Given the description of an element on the screen output the (x, y) to click on. 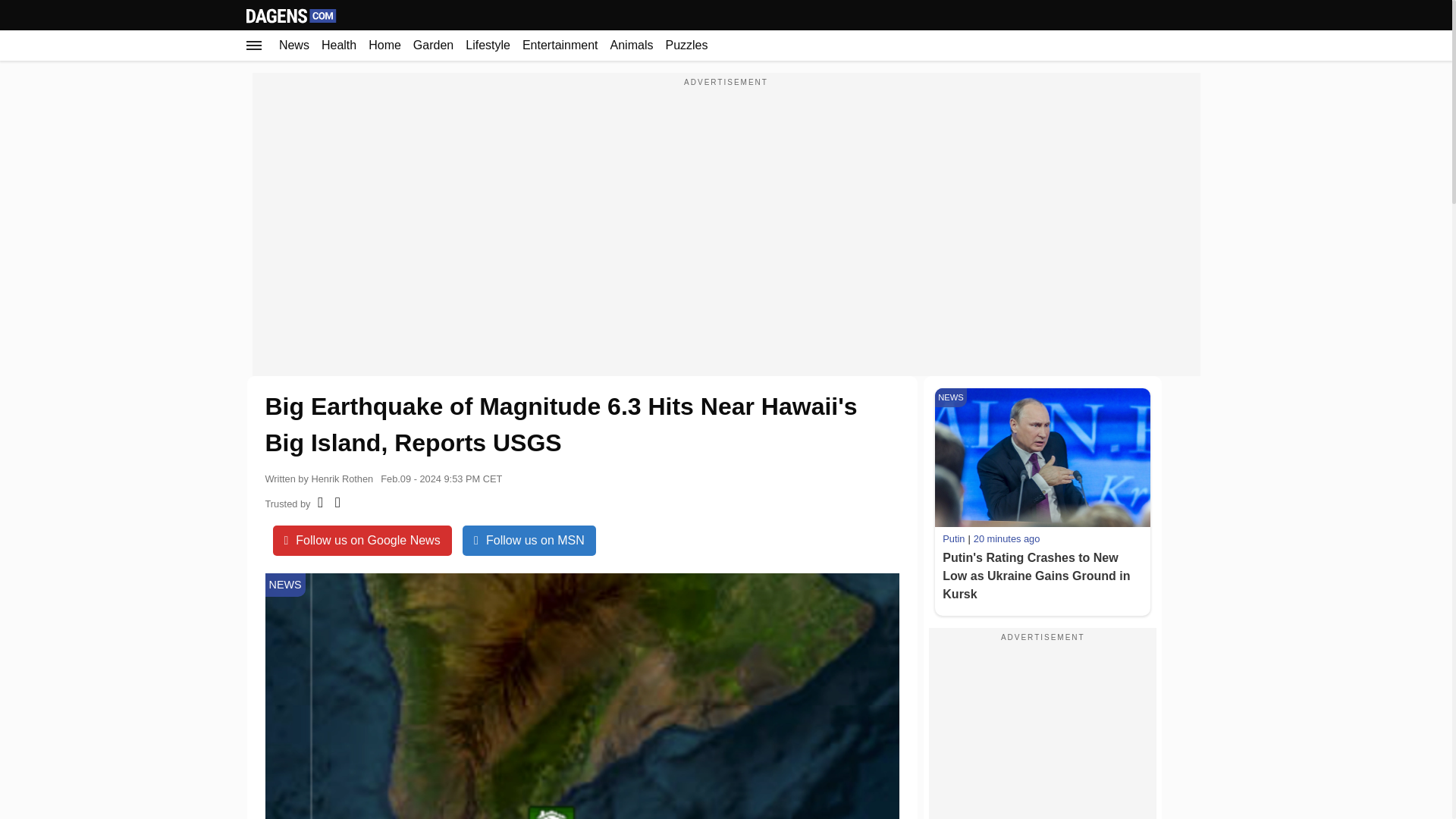
Follow us on MSN (529, 540)
Puzzles (686, 45)
Written by Henrik Rothen (319, 476)
Follow us on Google News (362, 540)
Animals (631, 45)
Health (338, 45)
News (294, 45)
Lifestyle (488, 45)
Home (384, 45)
Entertainment (560, 45)
